Given the description of an element on the screen output the (x, y) to click on. 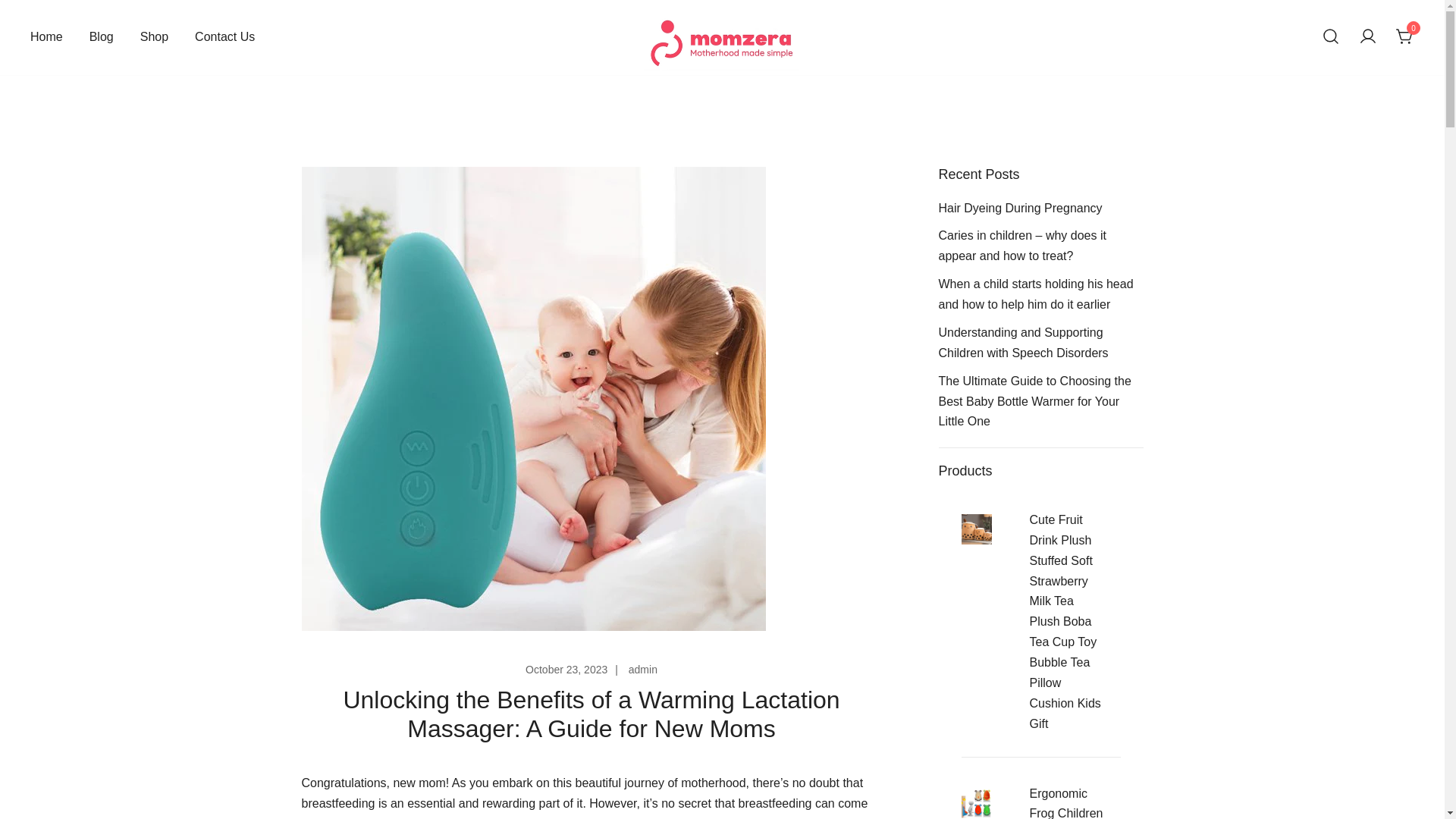
admin (643, 669)
October 23, 2023 (566, 669)
Contact Us (224, 37)
View your shopping cart (1404, 36)
0 (1404, 37)
0 (1404, 36)
Home (46, 37)
